Given the description of an element on the screen output the (x, y) to click on. 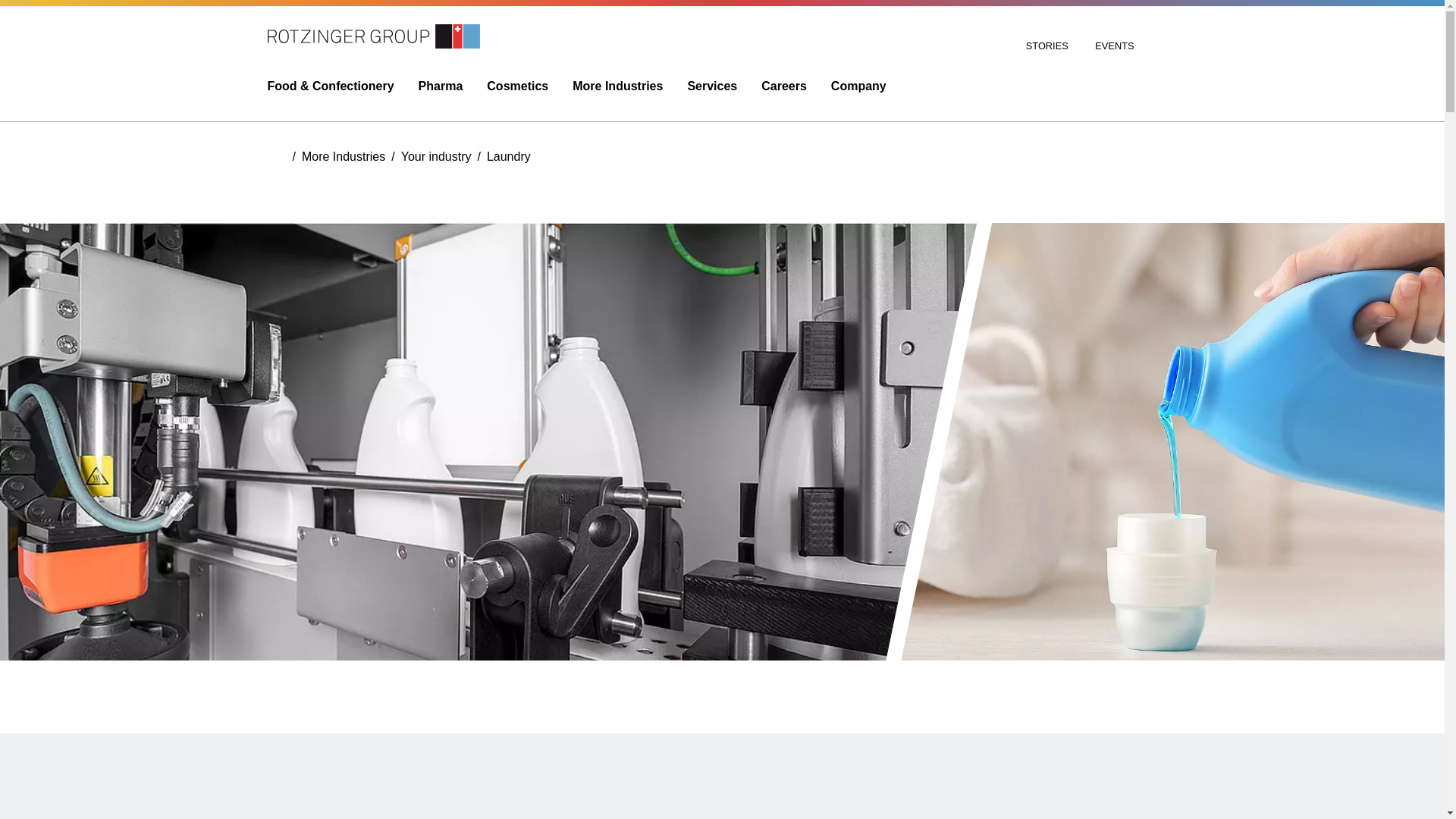
EVENTS (1114, 45)
search (1167, 45)
Digitization (834, 2)
STORIES (1048, 45)
Delta robot control platform (834, 22)
Chewing gum (385, 2)
Beverages (385, 50)
Rotzinger Logo (372, 36)
